Given the description of an element on the screen output the (x, y) to click on. 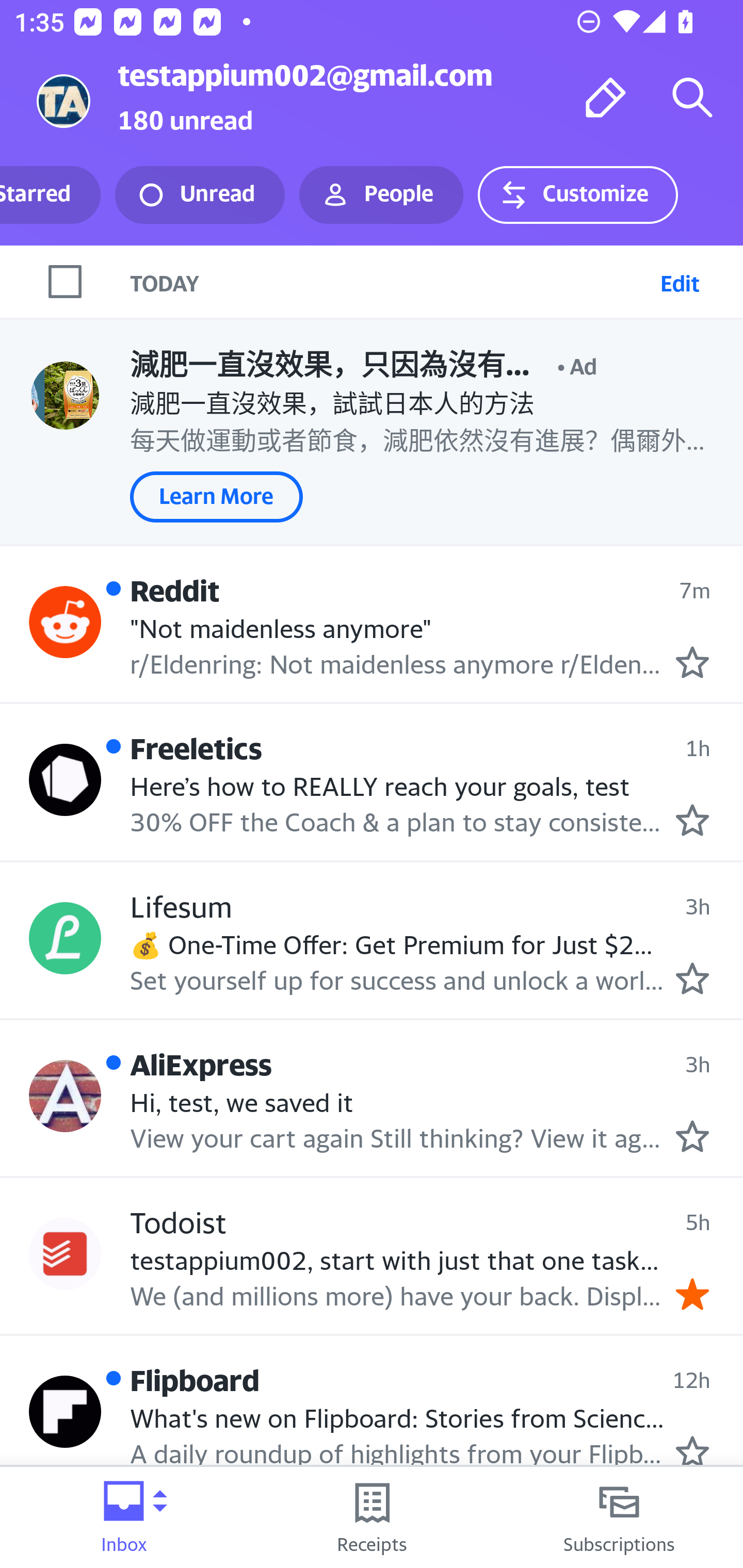
Compose (605, 97)
Search mail (692, 97)
Unread (199, 195)
People (381, 195)
Customize (577, 195)
TODAY (391, 281)
Edit Select emails (679, 281)
Profile
Reddit (64, 622)
Mark as starred. (692, 662)
Profile
Freeletics (64, 779)
Mark as starred. (692, 820)
Profile
Lifesum (64, 937)
Mark as starred. (692, 978)
Profile
AliExpress (64, 1095)
Mark as starred. (692, 1135)
Profile
Todoist (64, 1254)
Remove star. (692, 1294)
Profile
Flipboard (64, 1411)
Mark as starred. (692, 1451)
Inbox Folder picker (123, 1517)
Receipts (371, 1517)
Subscriptions (619, 1517)
